Given the description of an element on the screen output the (x, y) to click on. 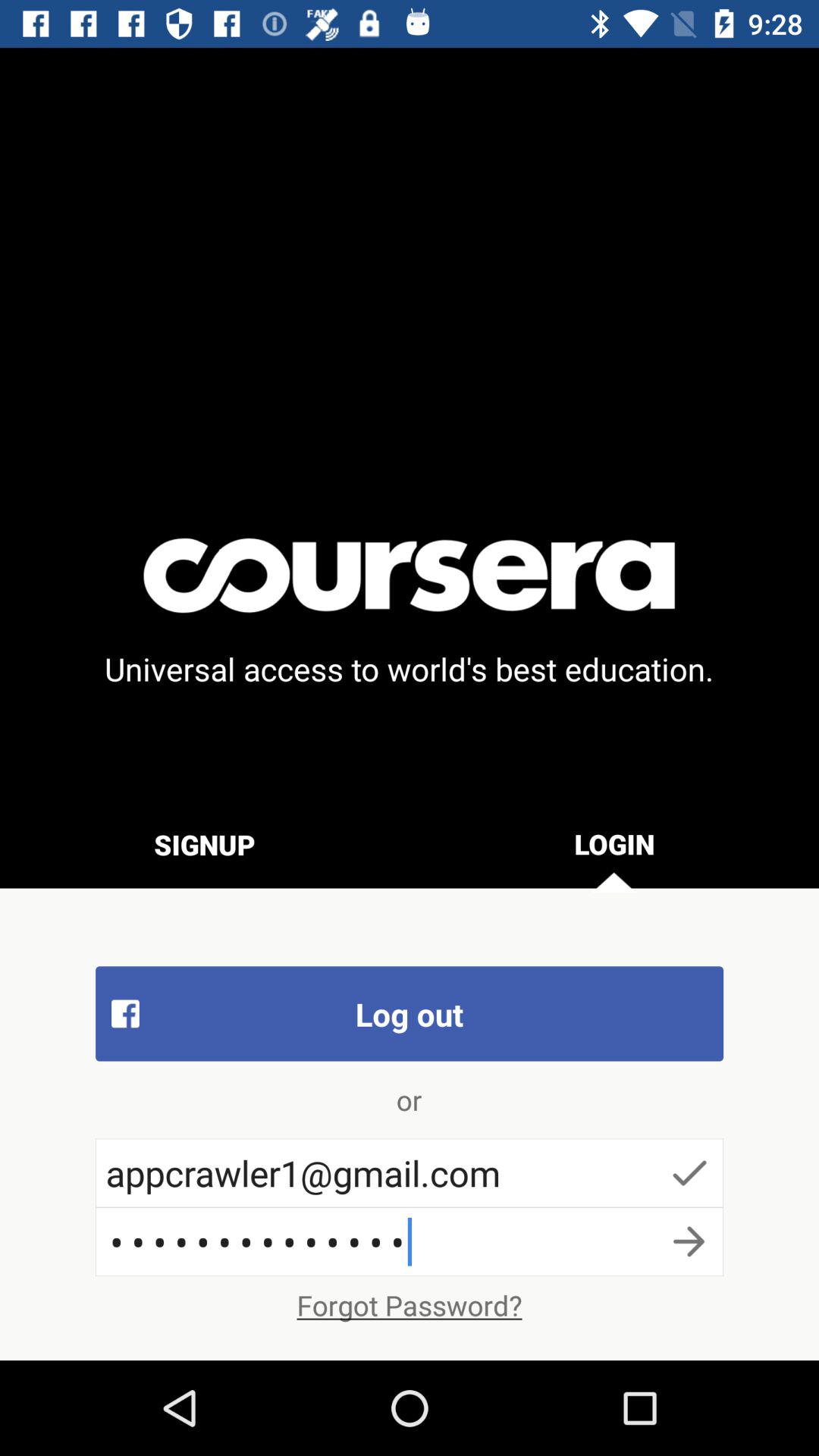
turn on icon to the left of the login item (204, 844)
